Given the description of an element on the screen output the (x, y) to click on. 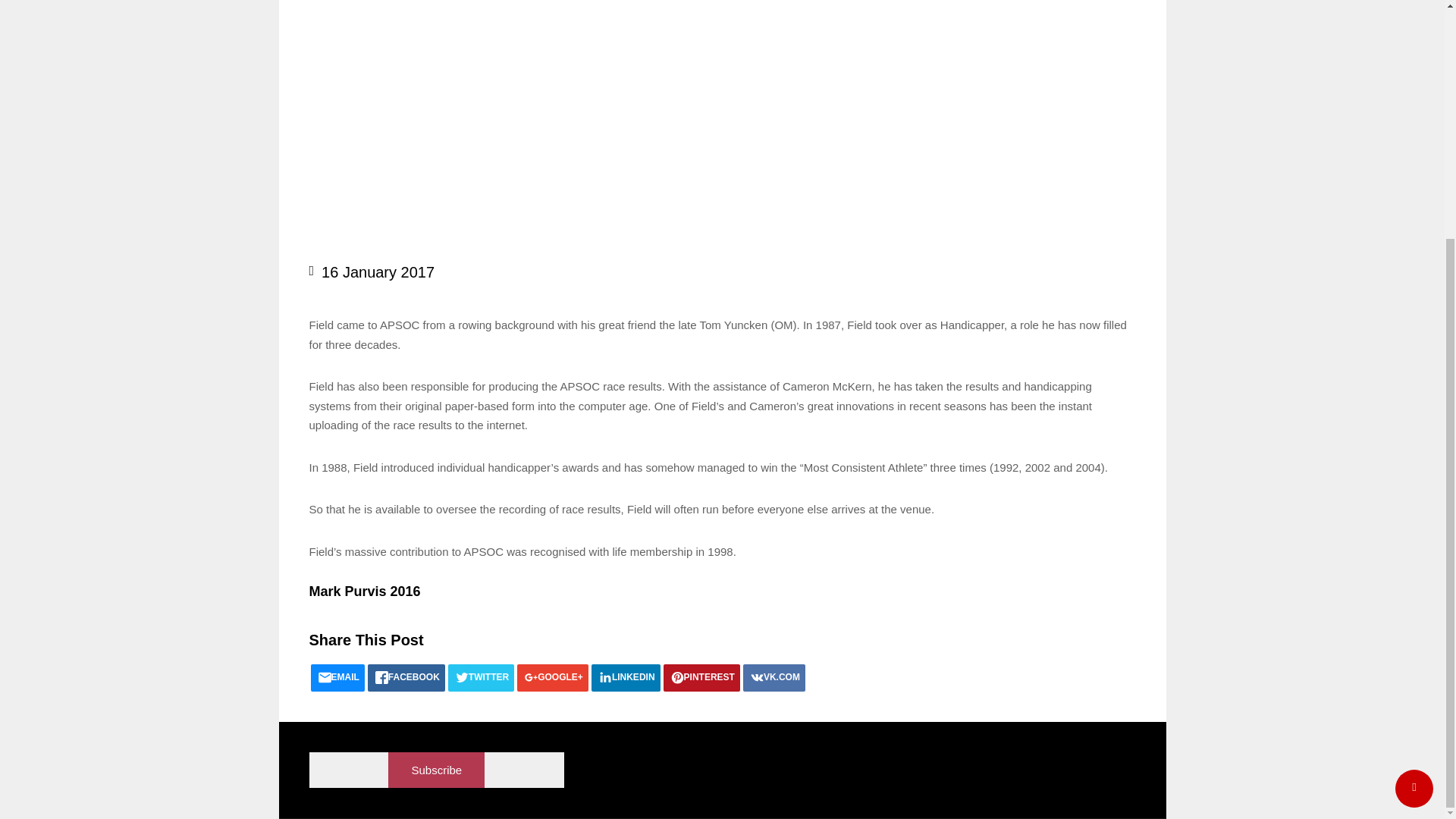
FACEBOOK (406, 677)
VK.COM (773, 677)
PINTEREST (701, 677)
EMAIL (338, 677)
Subscribe (436, 769)
TWITTER (480, 677)
LINKEDIN (626, 677)
